Given the description of an element on the screen output the (x, y) to click on. 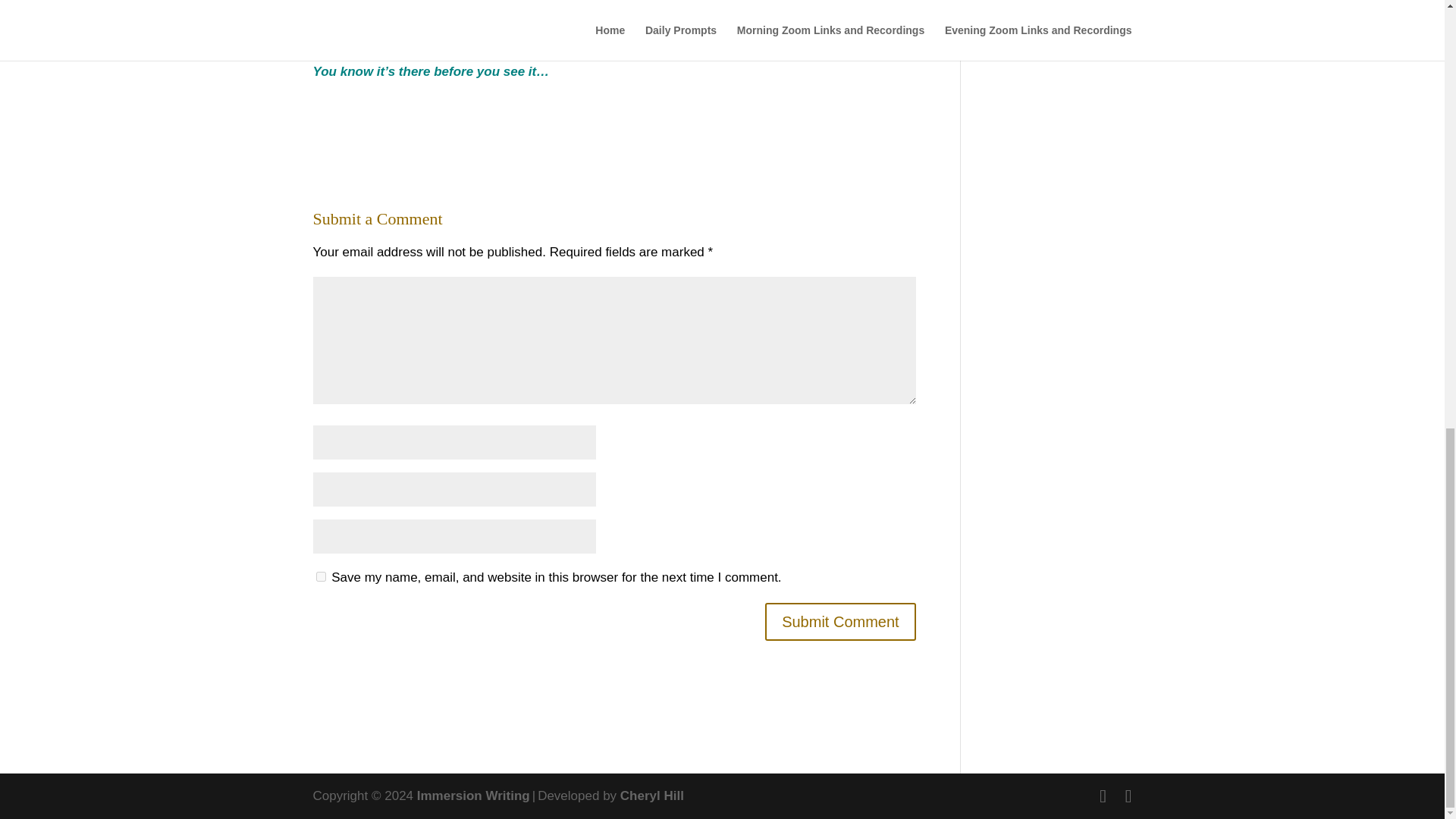
Submit Comment (840, 621)
yes (319, 576)
Submit Comment (840, 621)
Cheryl Hill (652, 795)
Immersion Writing (472, 795)
